Given the description of an element on the screen output the (x, y) to click on. 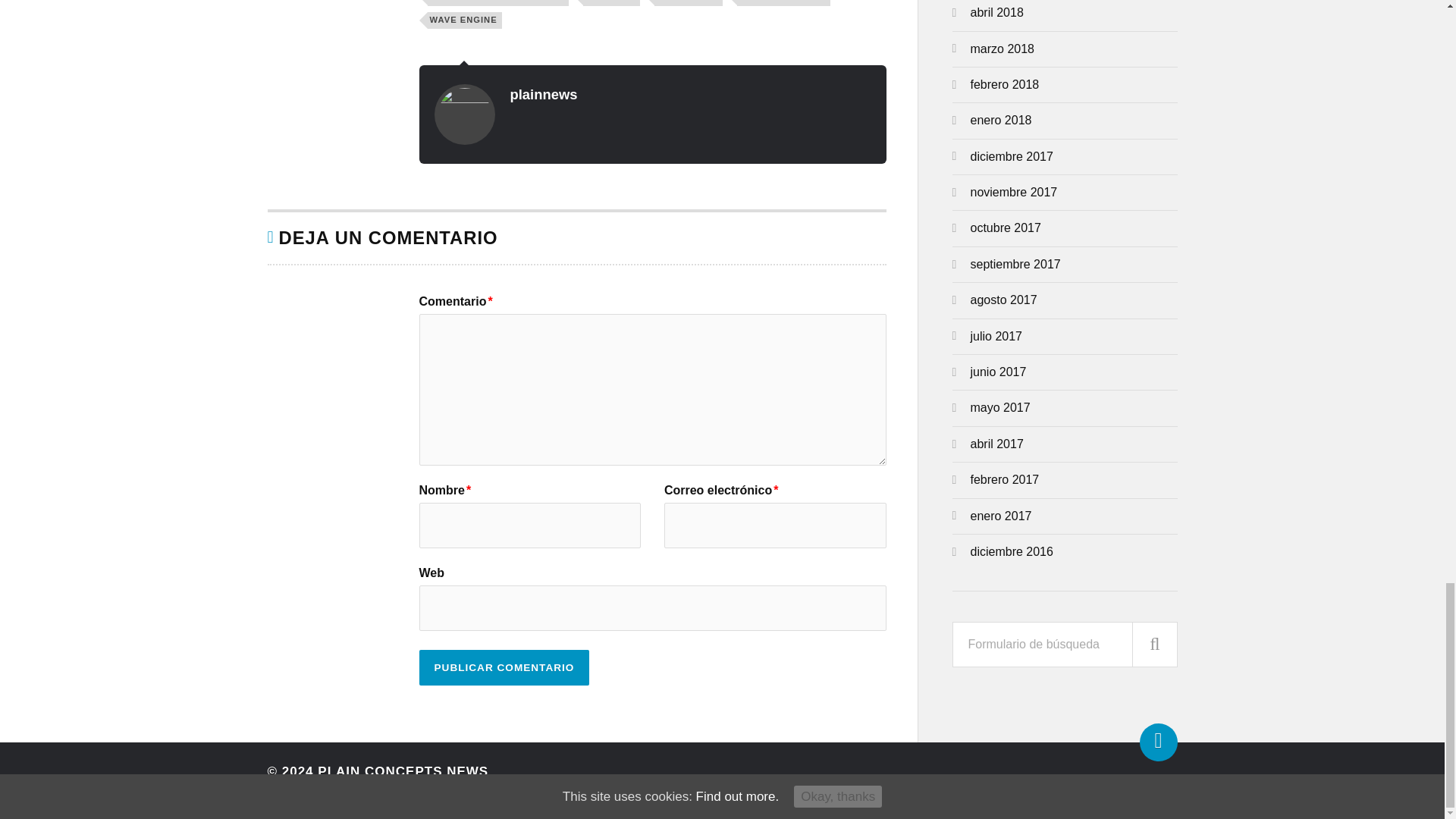
MOBILE WORLD CONGRESS (498, 2)
Publicar comentario (504, 667)
VIRTUAL REALITY (782, 2)
TELEFONICA (687, 2)
plainnews (542, 94)
WAVE ENGINE (465, 20)
Publicar comentario (504, 667)
MOVISTAR (611, 2)
